Given the description of an element on the screen output the (x, y) to click on. 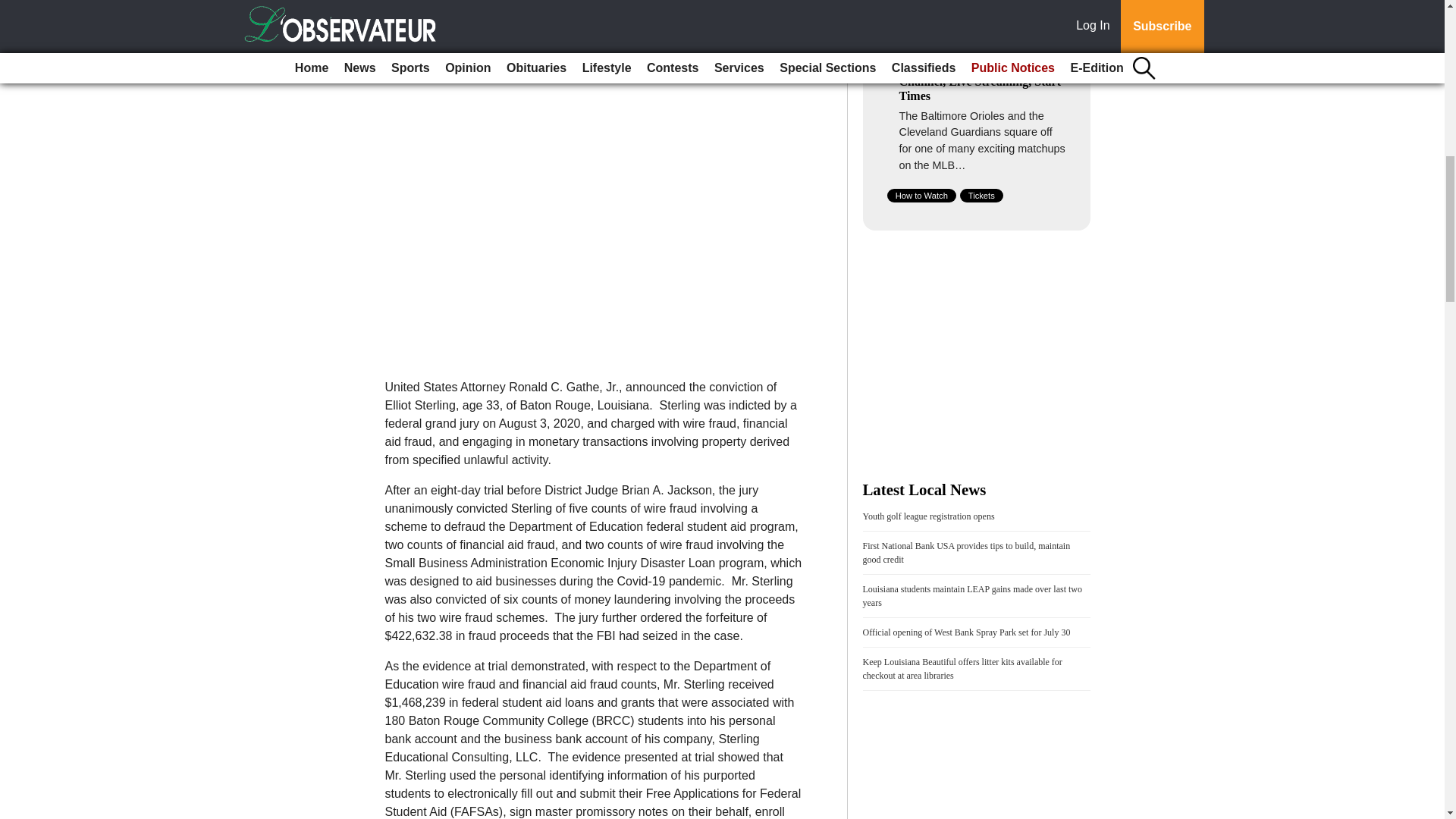
Youth golf league registration opens (928, 516)
Tickets (981, 195)
How to Watch (921, 195)
